Given the description of an element on the screen output the (x, y) to click on. 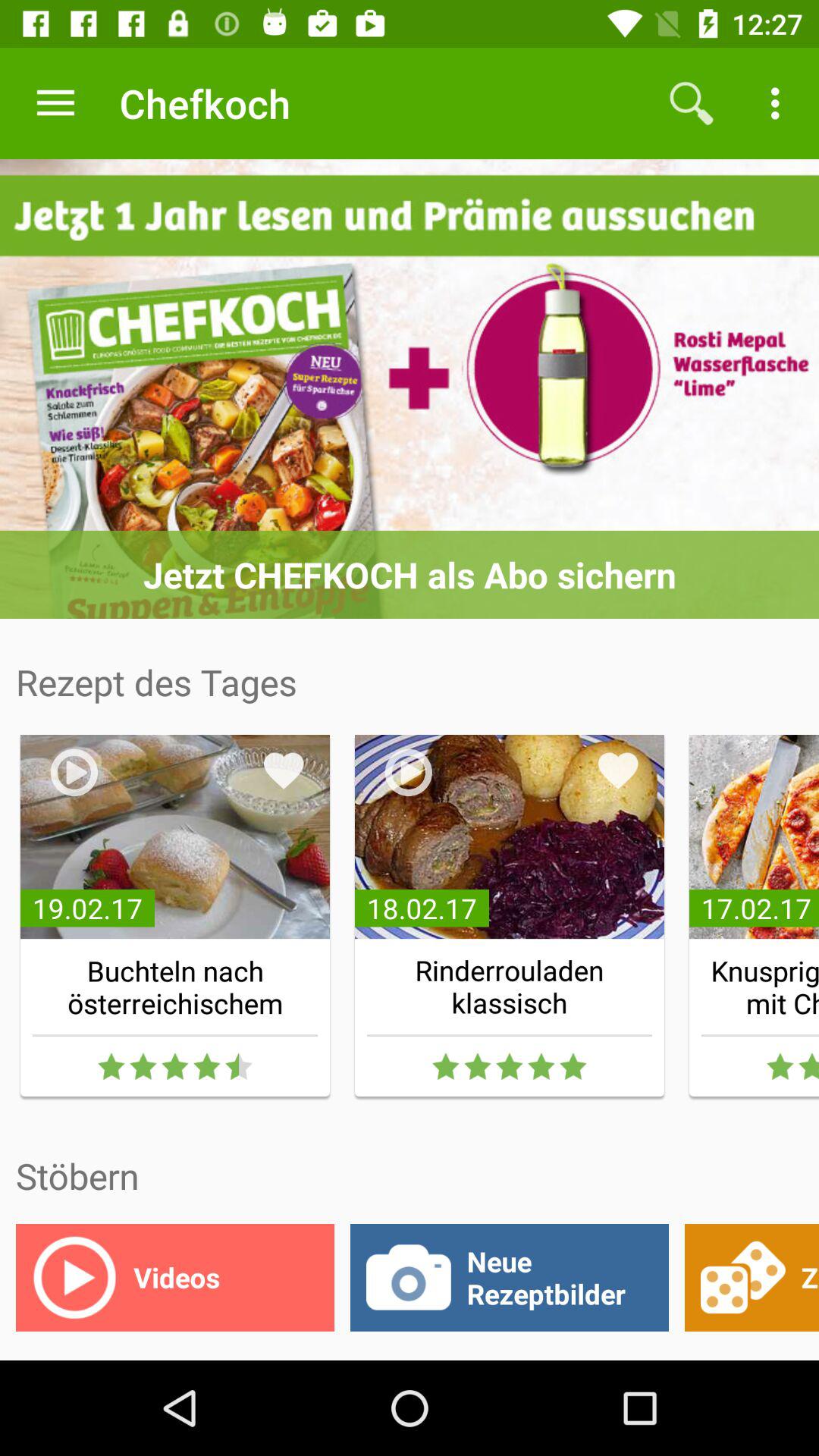
select icon to the right of the chefkoch app (691, 103)
